Given the description of an element on the screen output the (x, y) to click on. 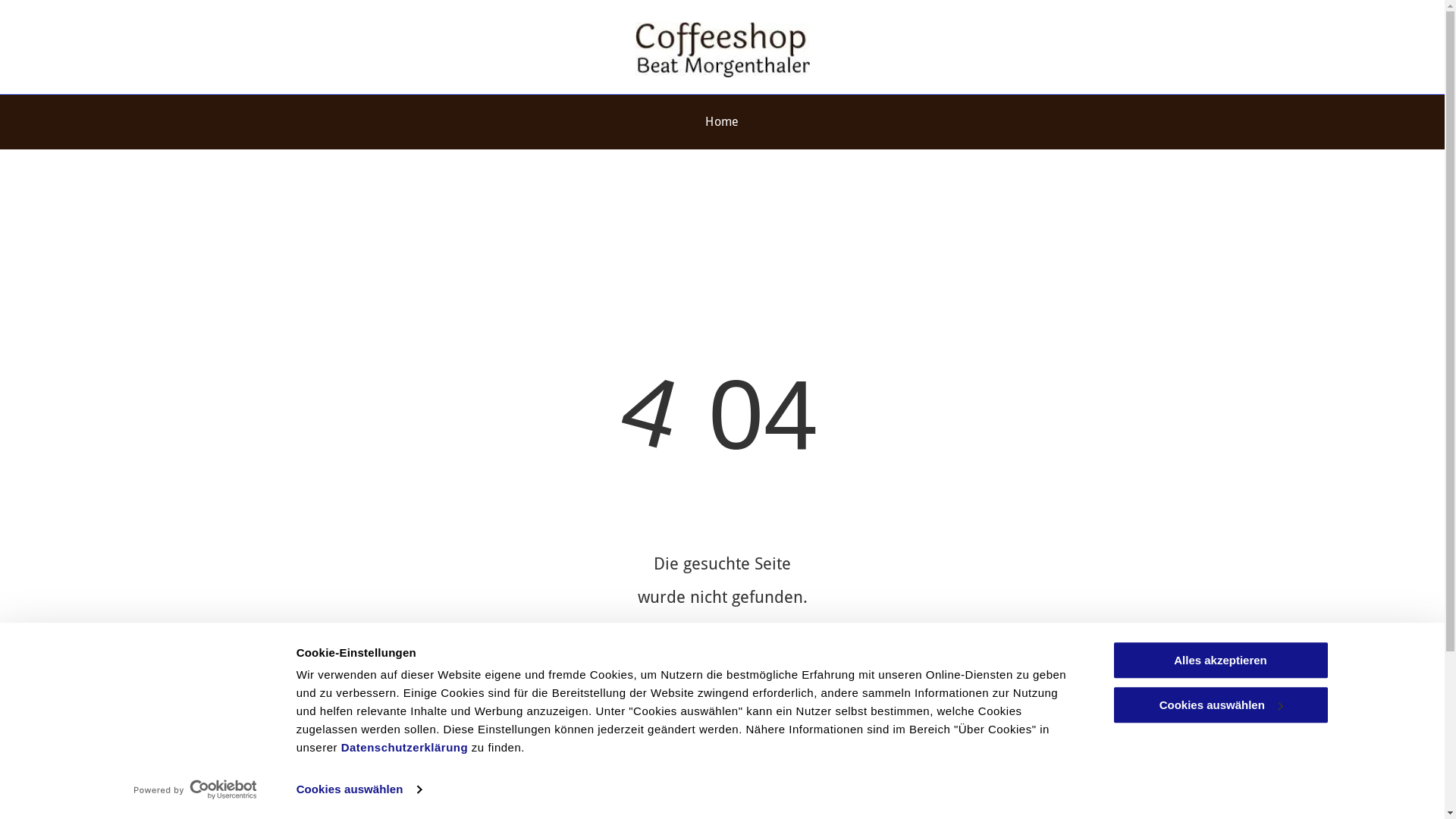
Zur Startseite Element type: text (721, 662)
Alles akzeptieren Element type: text (1219, 659)
Home Element type: text (721, 122)
